Given the description of an element on the screen output the (x, y) to click on. 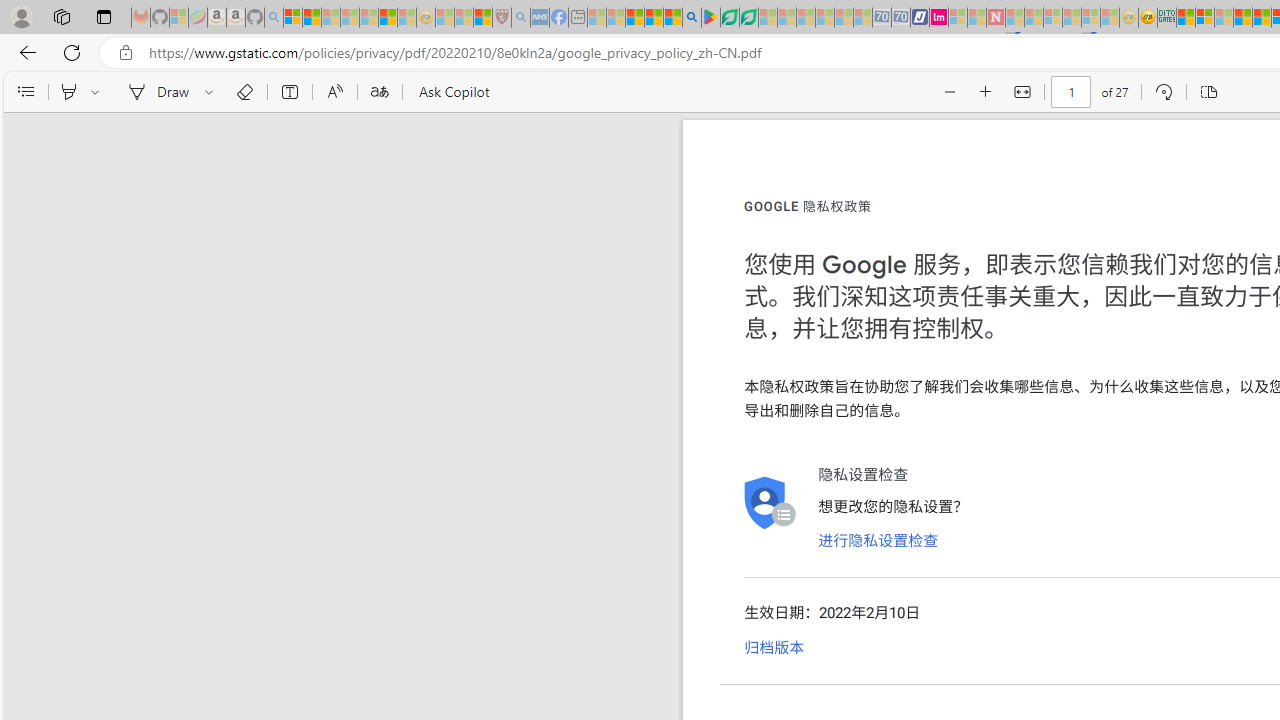
Expert Portfolios (1242, 17)
Page view (1208, 92)
Draw (155, 92)
Pets - MSN (654, 17)
Select ink properties (212, 92)
